Given the description of an element on the screen output the (x, y) to click on. 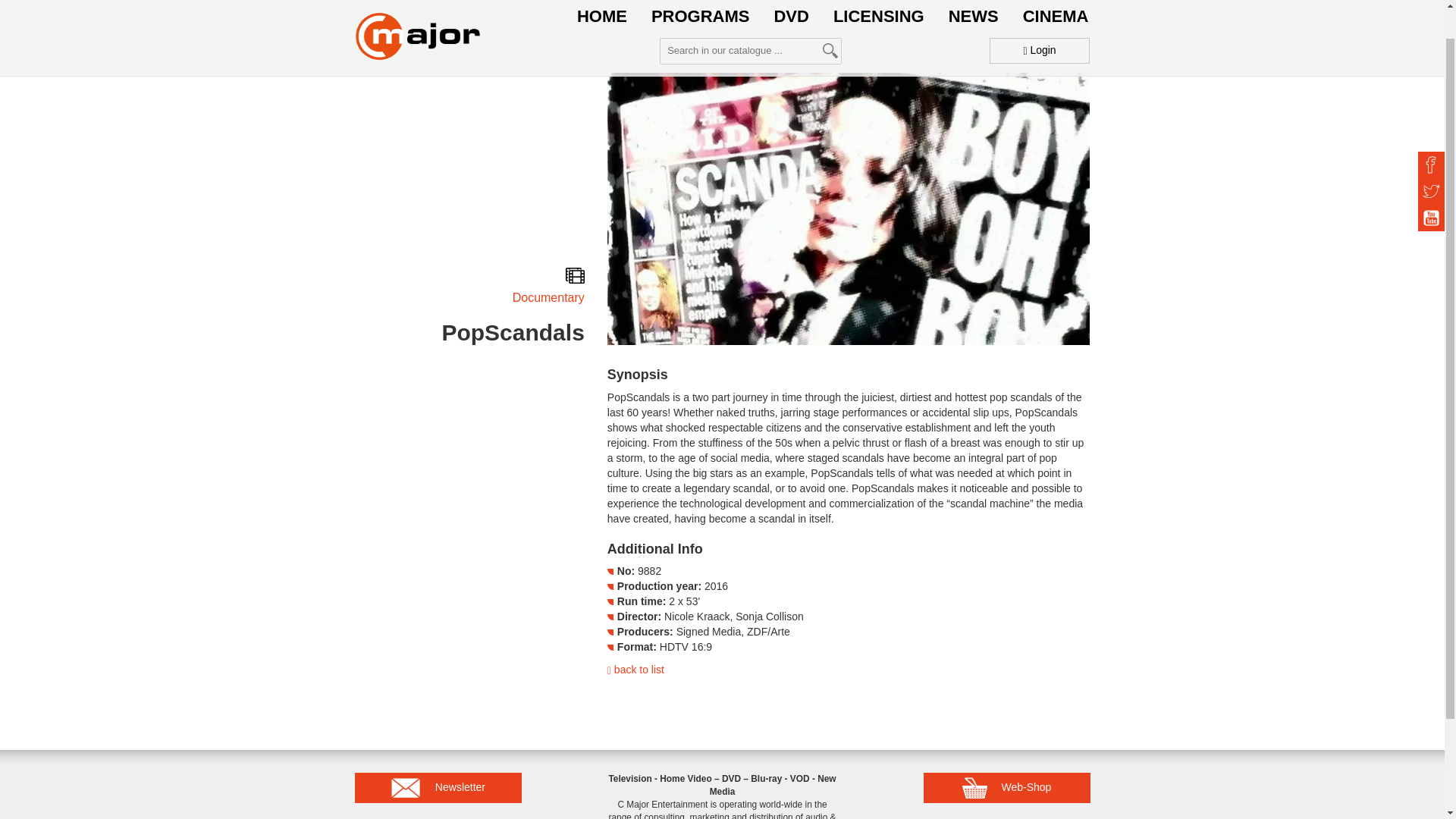
Login (1040, 17)
Newsletter (438, 788)
Web-Shop (1006, 788)
back to list (635, 669)
to home screen (417, 13)
